Given the description of an element on the screen output the (x, y) to click on. 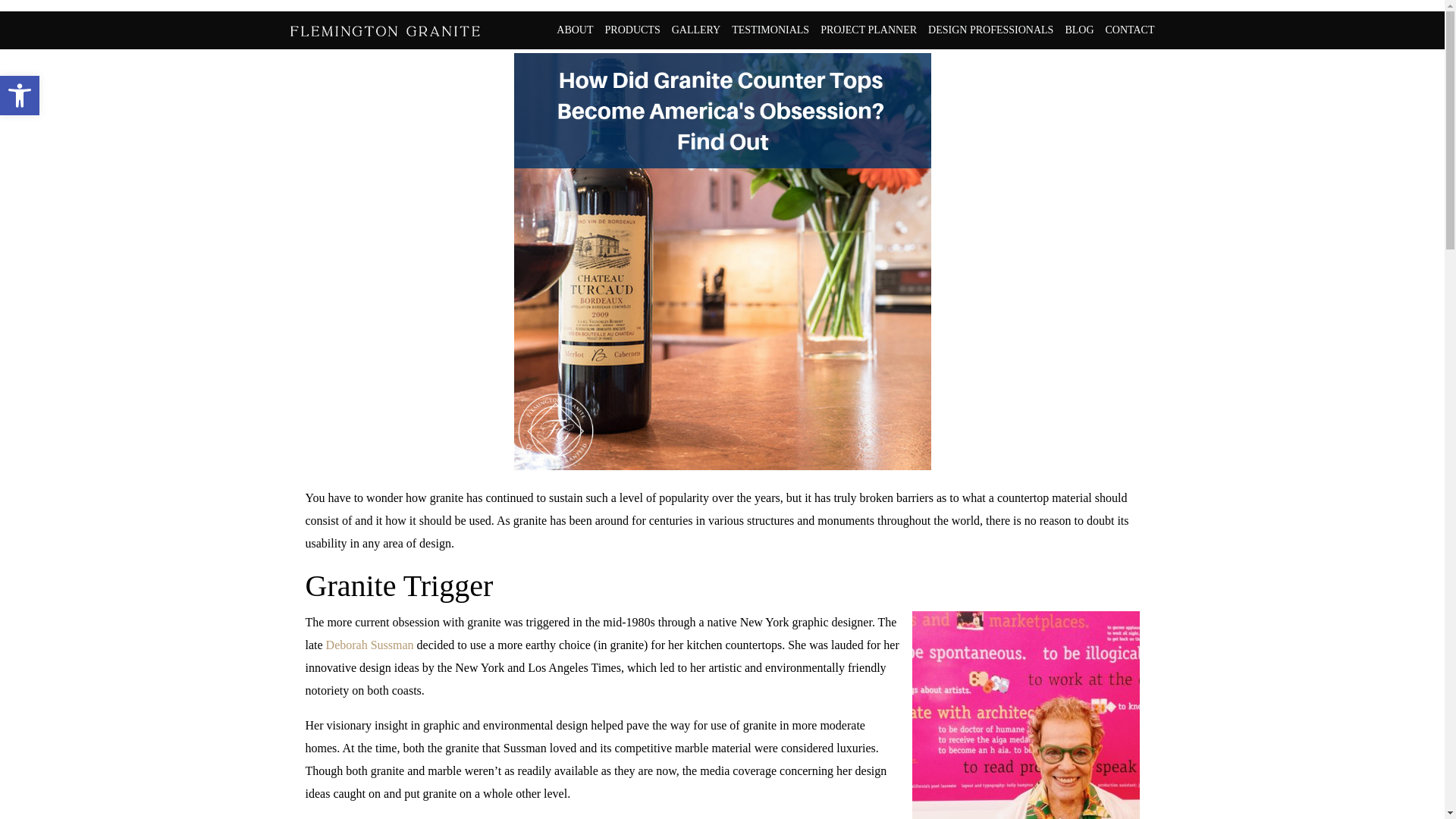
PRODUCTS (19, 95)
Deborah Sussman (633, 30)
Accessibility Tools (1024, 714)
ABOUT (19, 95)
Accessibility Tools (574, 30)
